Given the description of an element on the screen output the (x, y) to click on. 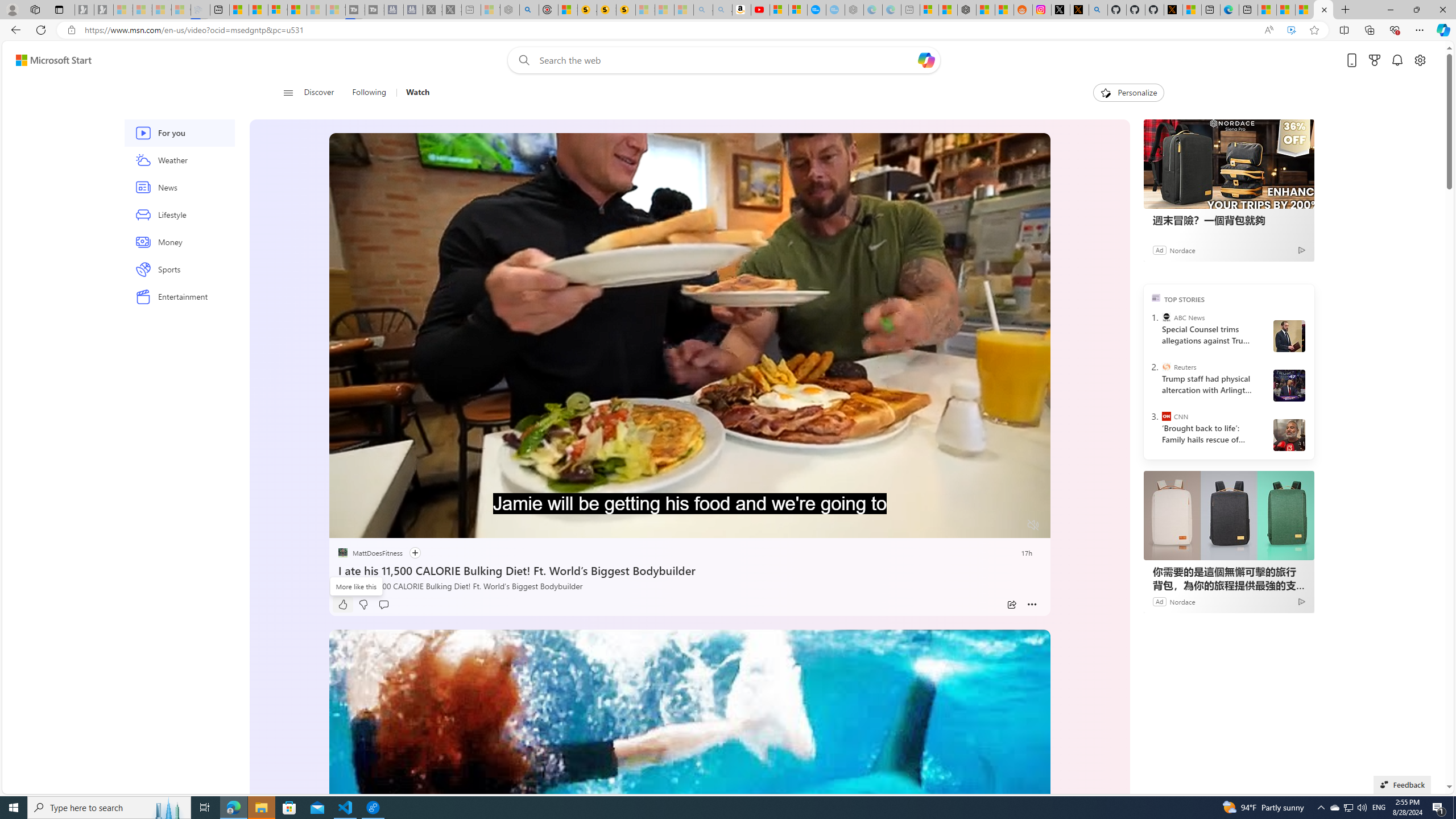
Unmute (1033, 524)
Web search (520, 60)
Nordace - Summer Adventures 2024 - Sleeping (509, 9)
Seek Forward (391, 525)
Fullscreen (1011, 525)
Start the conversation (383, 604)
Skip to footer (46, 59)
Open Copilot (926, 59)
Welcome to Microsoft Edge (1229, 9)
More (1031, 604)
MSNBC - MSN (1285, 9)
X Privacy Policy (1173, 9)
